Given the description of an element on the screen output the (x, y) to click on. 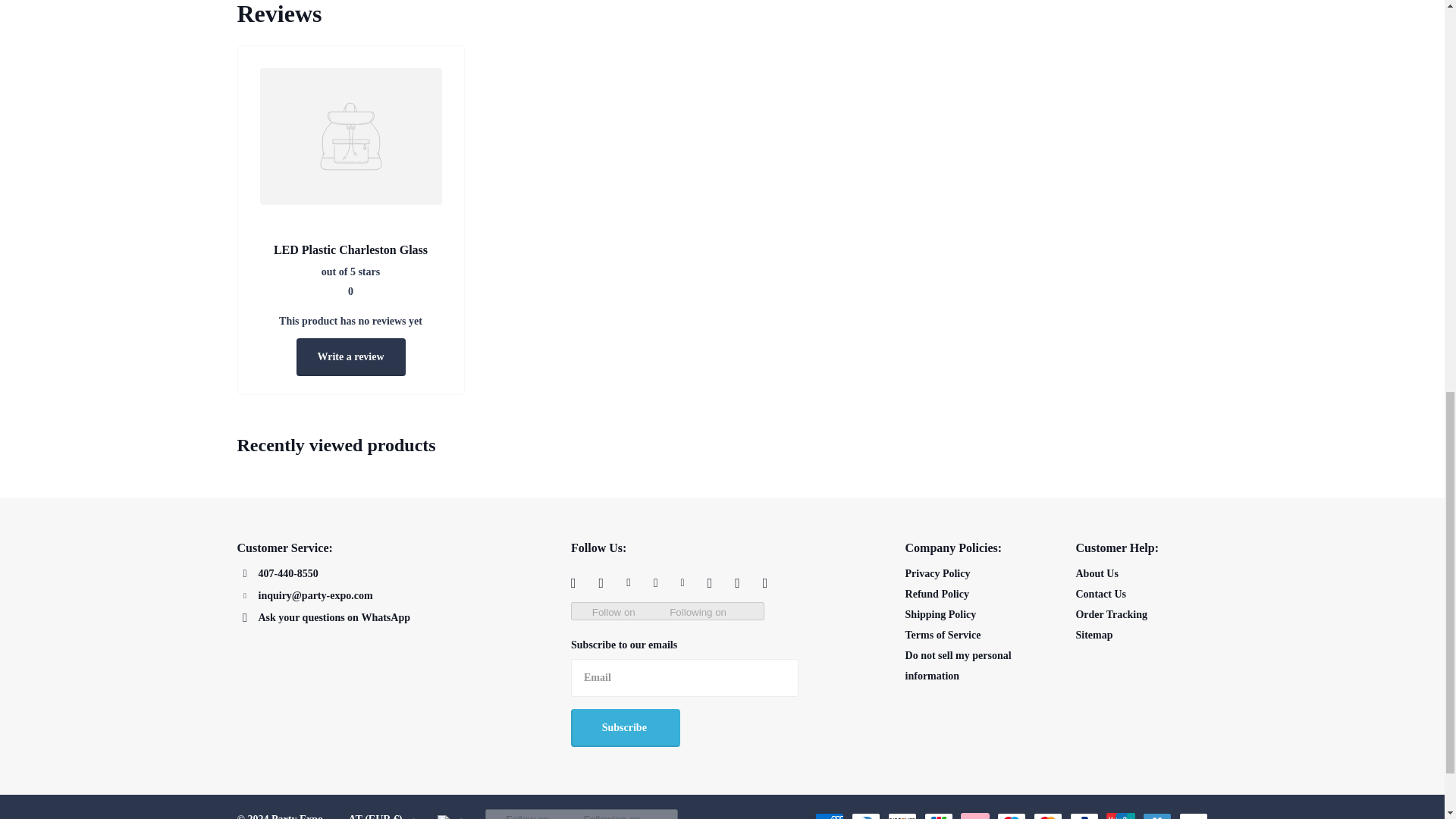
Klarna (973, 816)
Union Pay (1119, 816)
Refund Policy (937, 593)
Do not sell my personal information (958, 665)
PayPal (1082, 816)
Venmo (1155, 816)
Diners Club (864, 816)
Terms of Service (943, 634)
Visa (1192, 816)
Maestro (1010, 816)
Order Tracking (1111, 614)
Sitemap (1093, 634)
Privacy Policy (938, 573)
JCB (937, 816)
About Us (1096, 573)
